Given the description of an element on the screen output the (x, y) to click on. 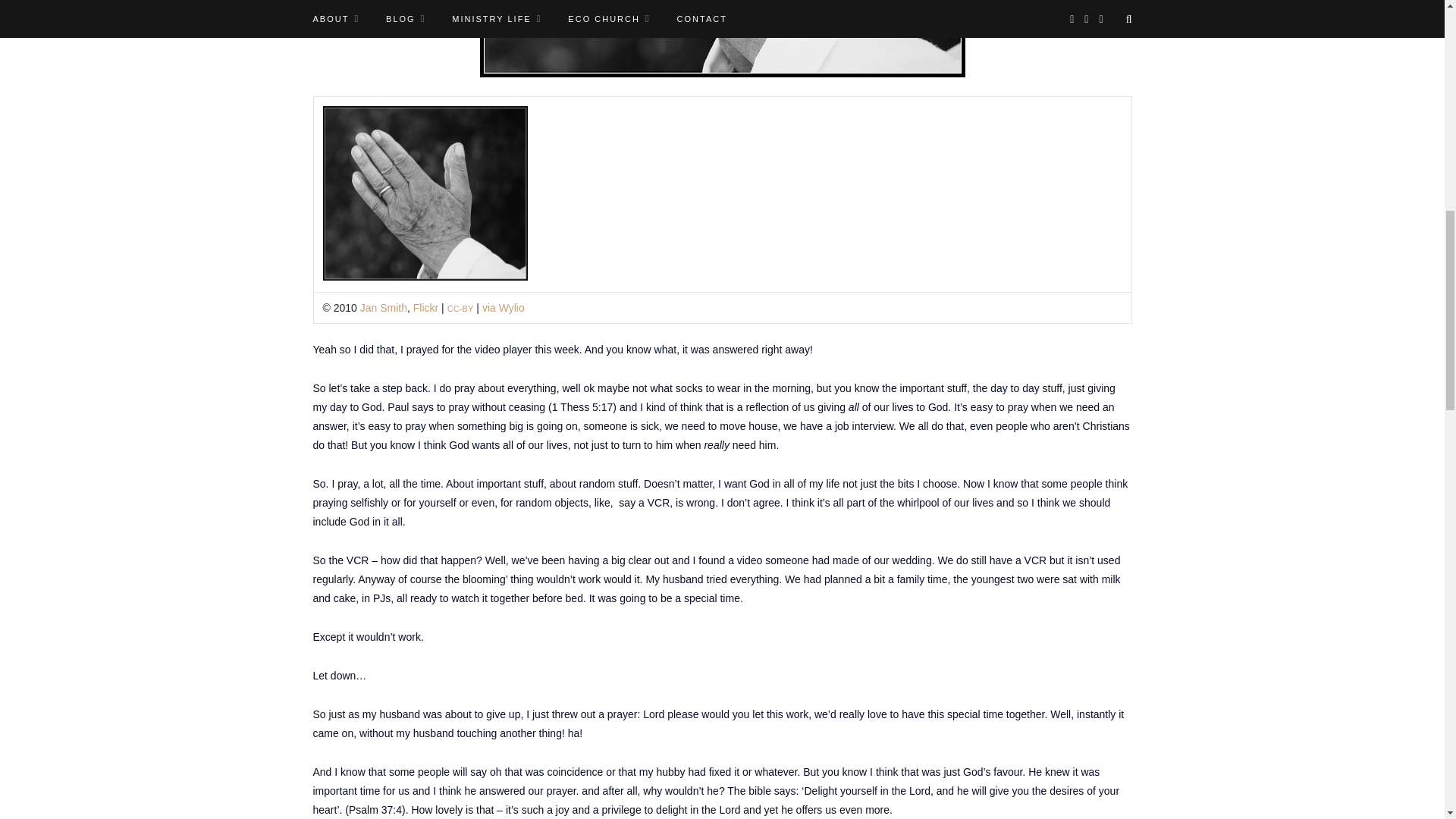
'Praying hands' published on Flickr by Jan Smith (383, 307)
Easily credit free 'praying hands' pictures with Wylio. (502, 307)
from Flickr (425, 307)
